Given the description of an element on the screen output the (x, y) to click on. 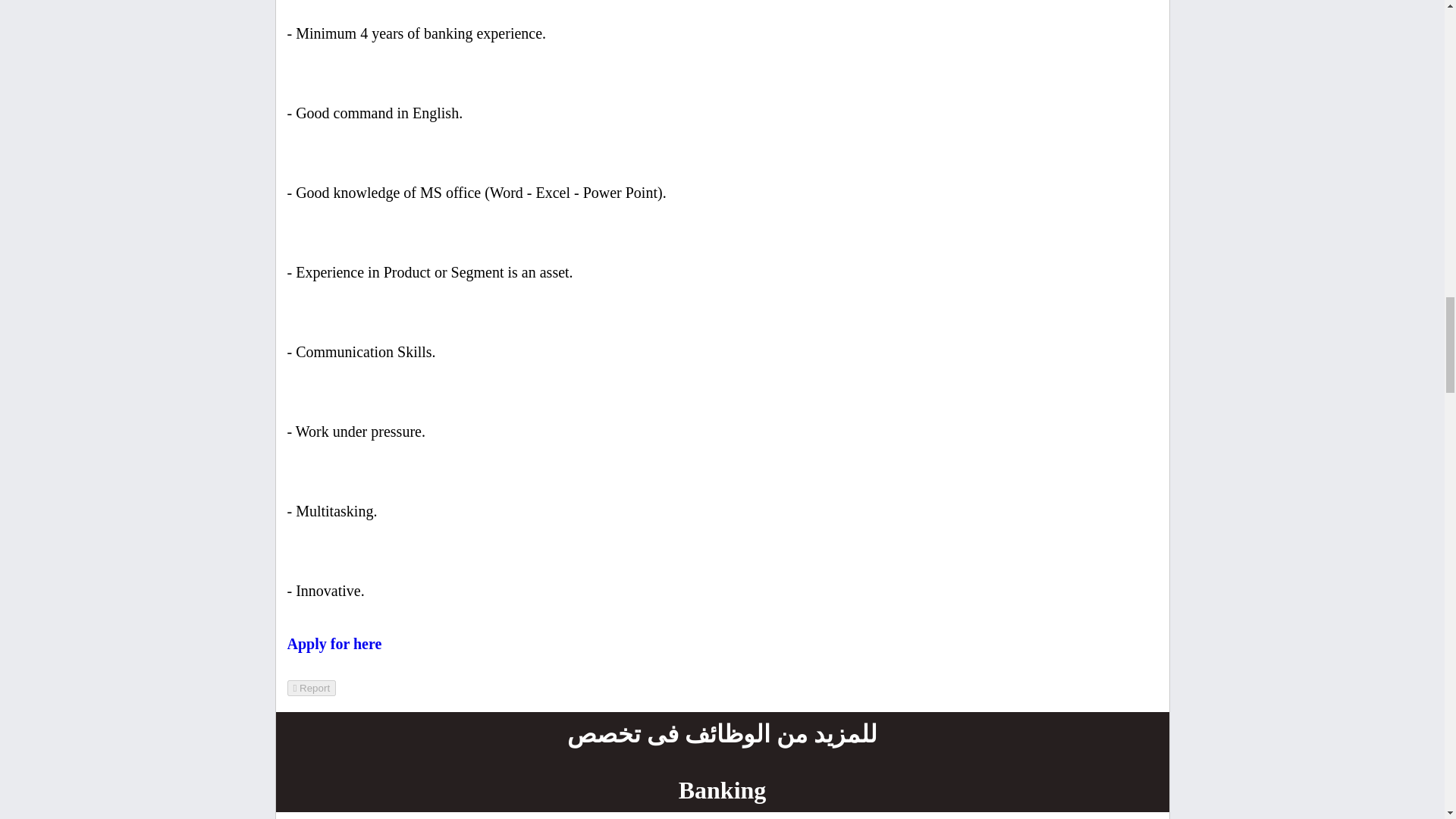
Report (311, 688)
Apply for here (333, 643)
